Given the description of an element on the screen output the (x, y) to click on. 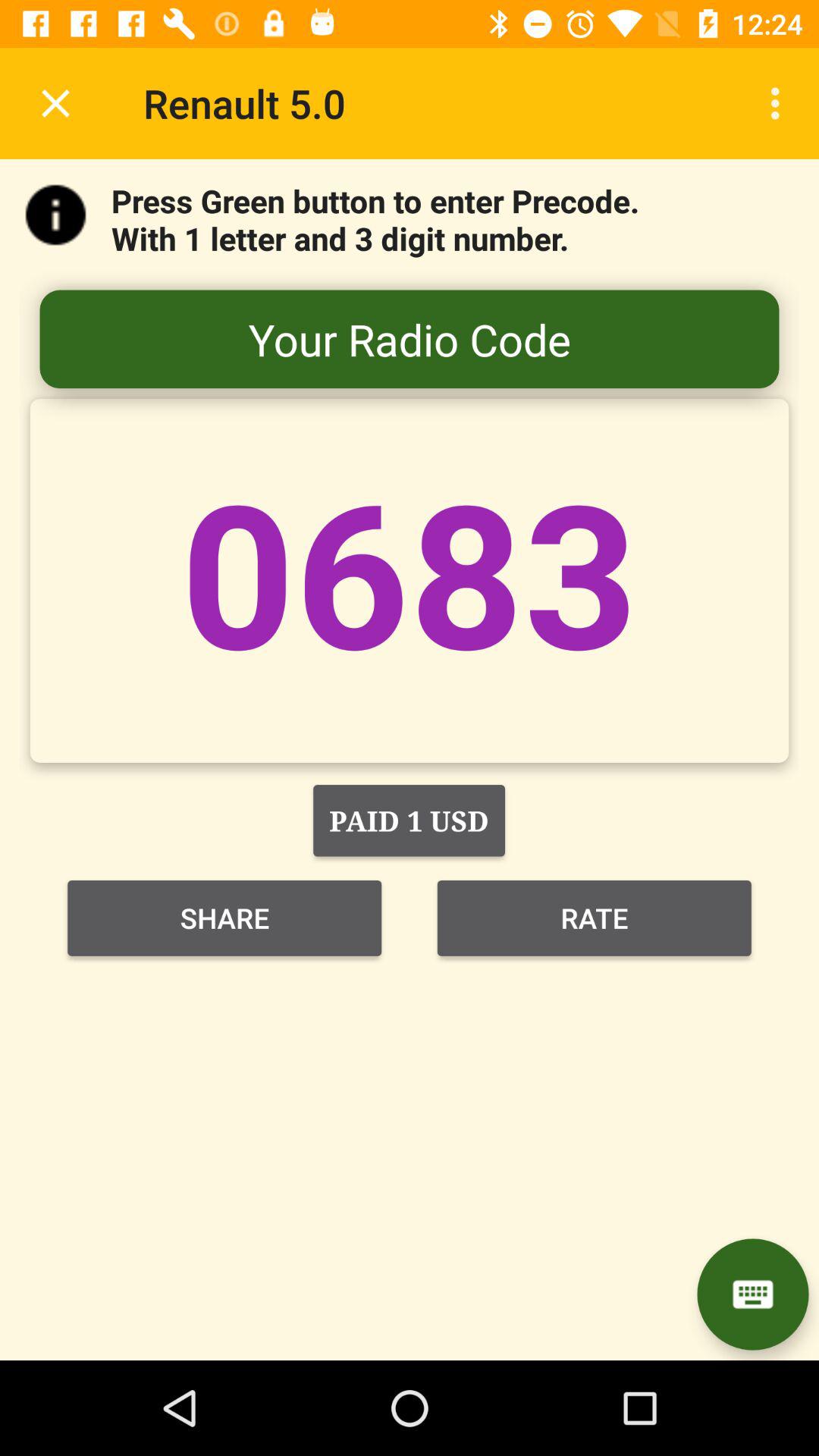
tap the share (224, 918)
